Given the description of an element on the screen output the (x, y) to click on. 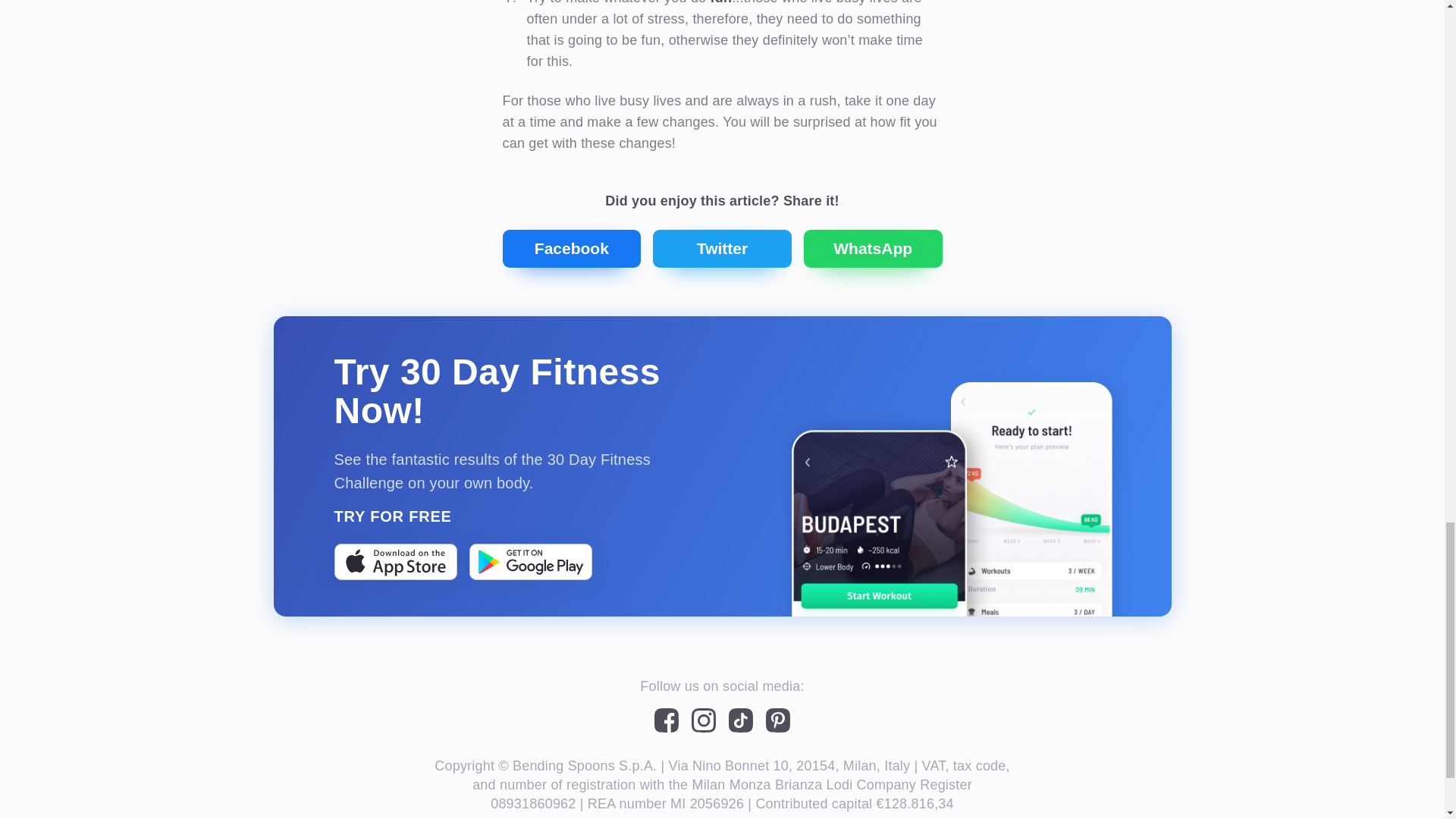
Twitter (722, 248)
WhatsApp (872, 248)
Facebook (571, 248)
